Given the description of an element on the screen output the (x, y) to click on. 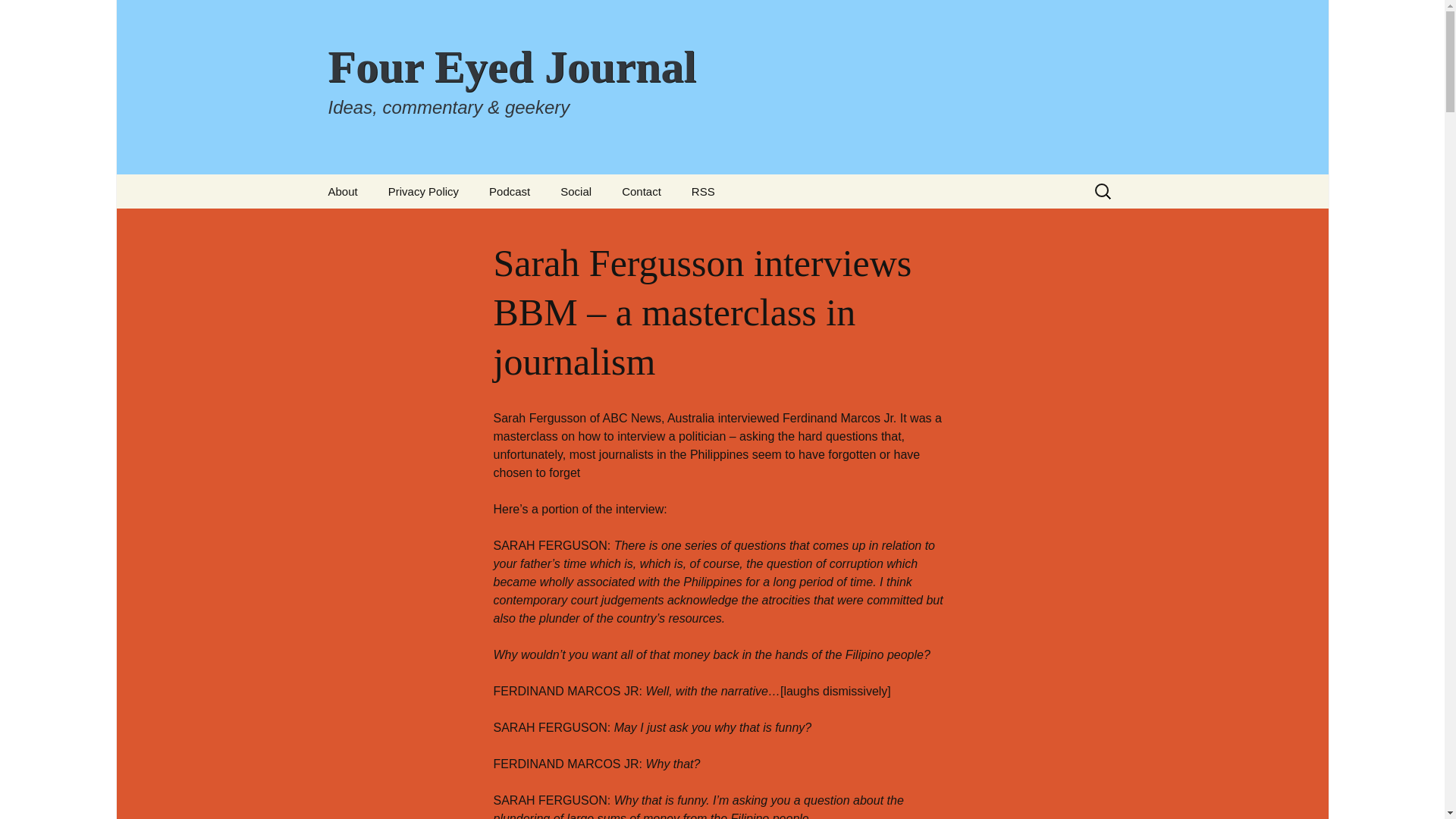
Post (620, 225)
Privacy Policy (423, 191)
RSS (703, 191)
Social (575, 191)
Contact (642, 191)
About (342, 191)
Search (18, 15)
Podcast (509, 191)
